Given the description of an element on the screen output the (x, y) to click on. 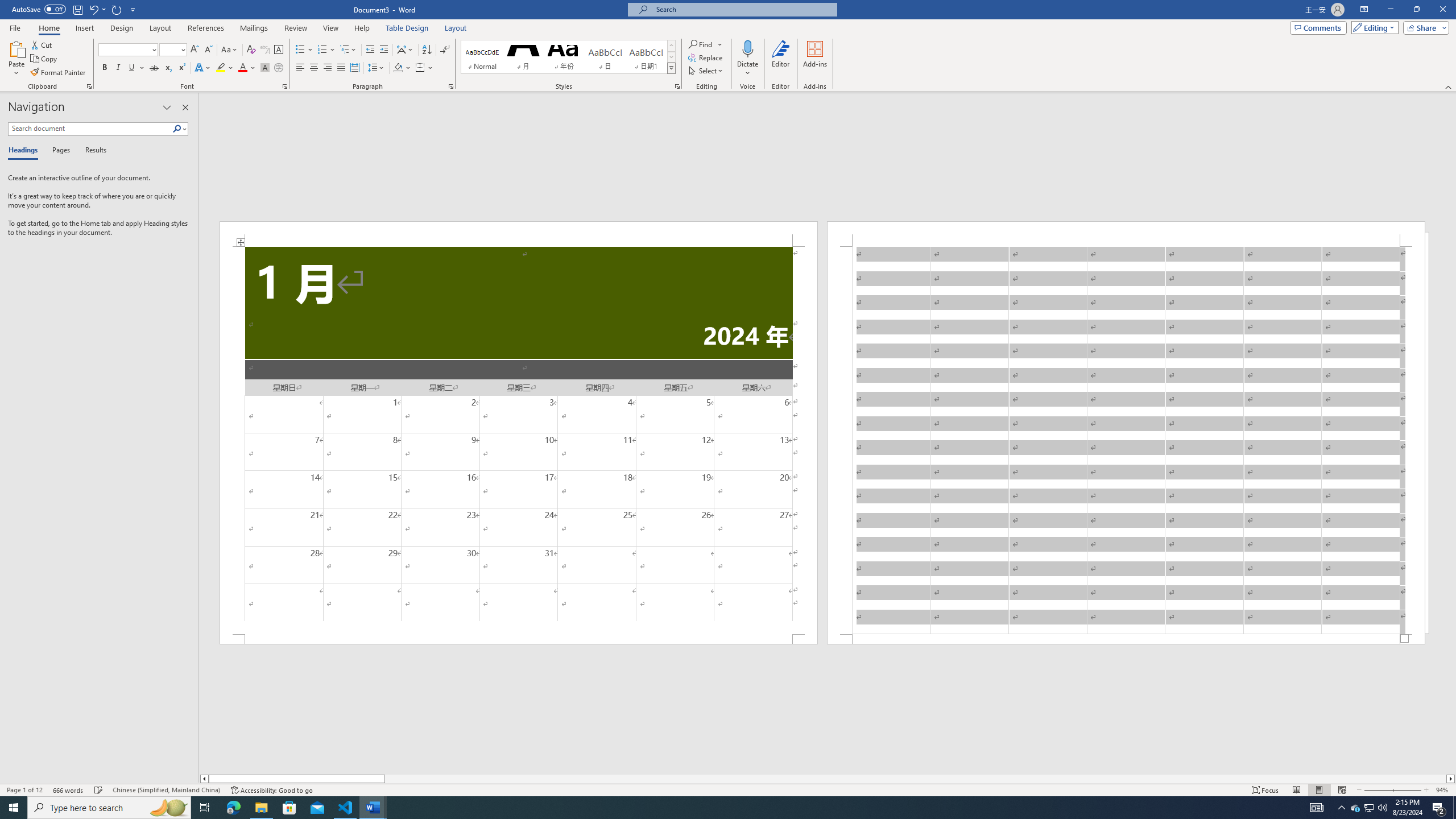
Accessibility Checker Accessibility: Good to go (271, 790)
Styles (670, 67)
Pages (59, 150)
Asian Layout (405, 49)
Sort... (426, 49)
Paragraph... (450, 85)
Increase Indent (383, 49)
Align Right (327, 67)
Cut (42, 44)
Class: NetUIScrollBar (827, 778)
Review (295, 28)
Character Shading (264, 67)
